Given the description of an element on the screen output the (x, y) to click on. 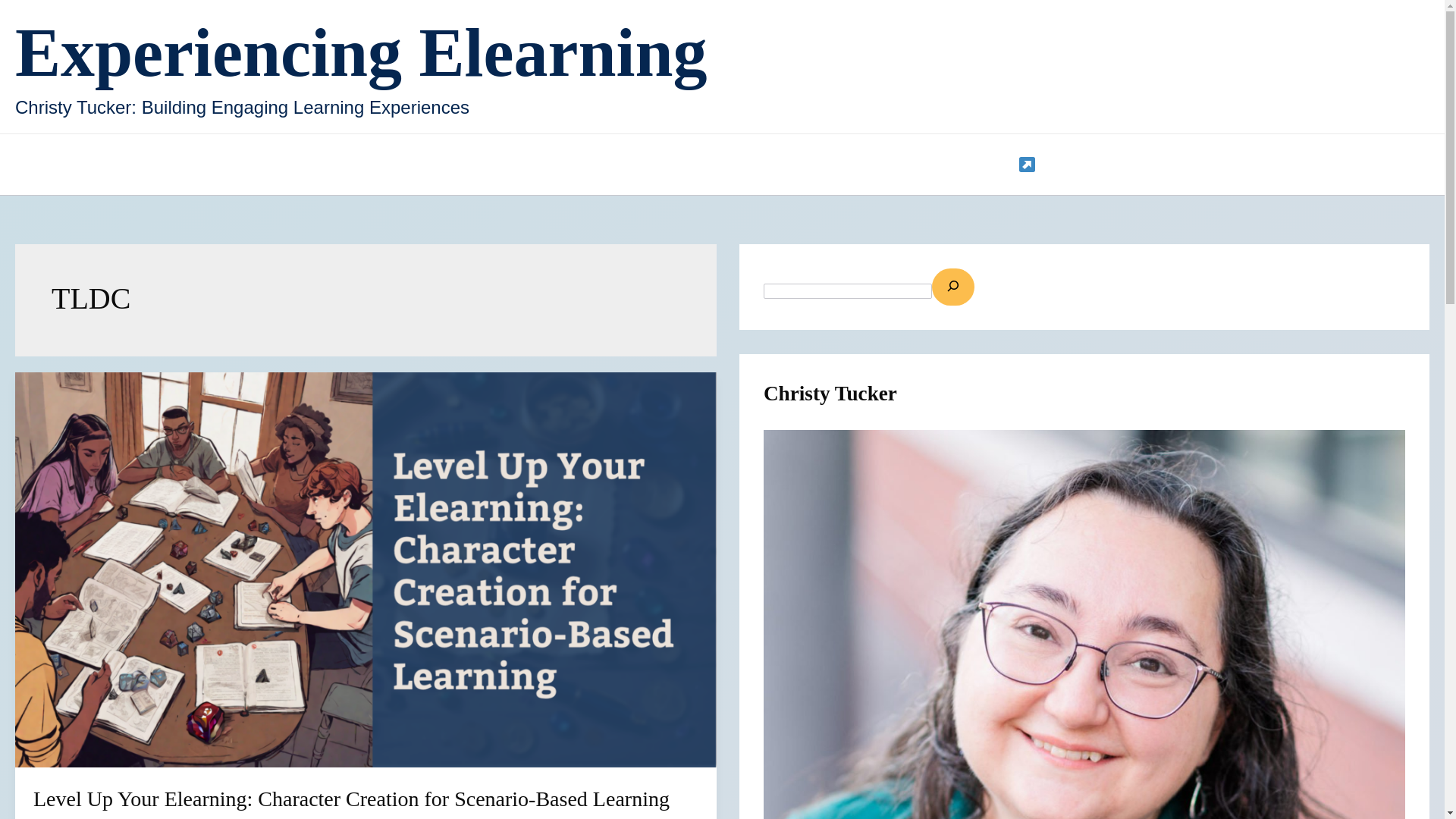
Contact (436, 164)
Portfolio (998, 164)
Hire Me (900, 164)
ID Careers (803, 164)
About (515, 164)
Experiencing Elearning (360, 52)
